Given the description of an element on the screen output the (x, y) to click on. 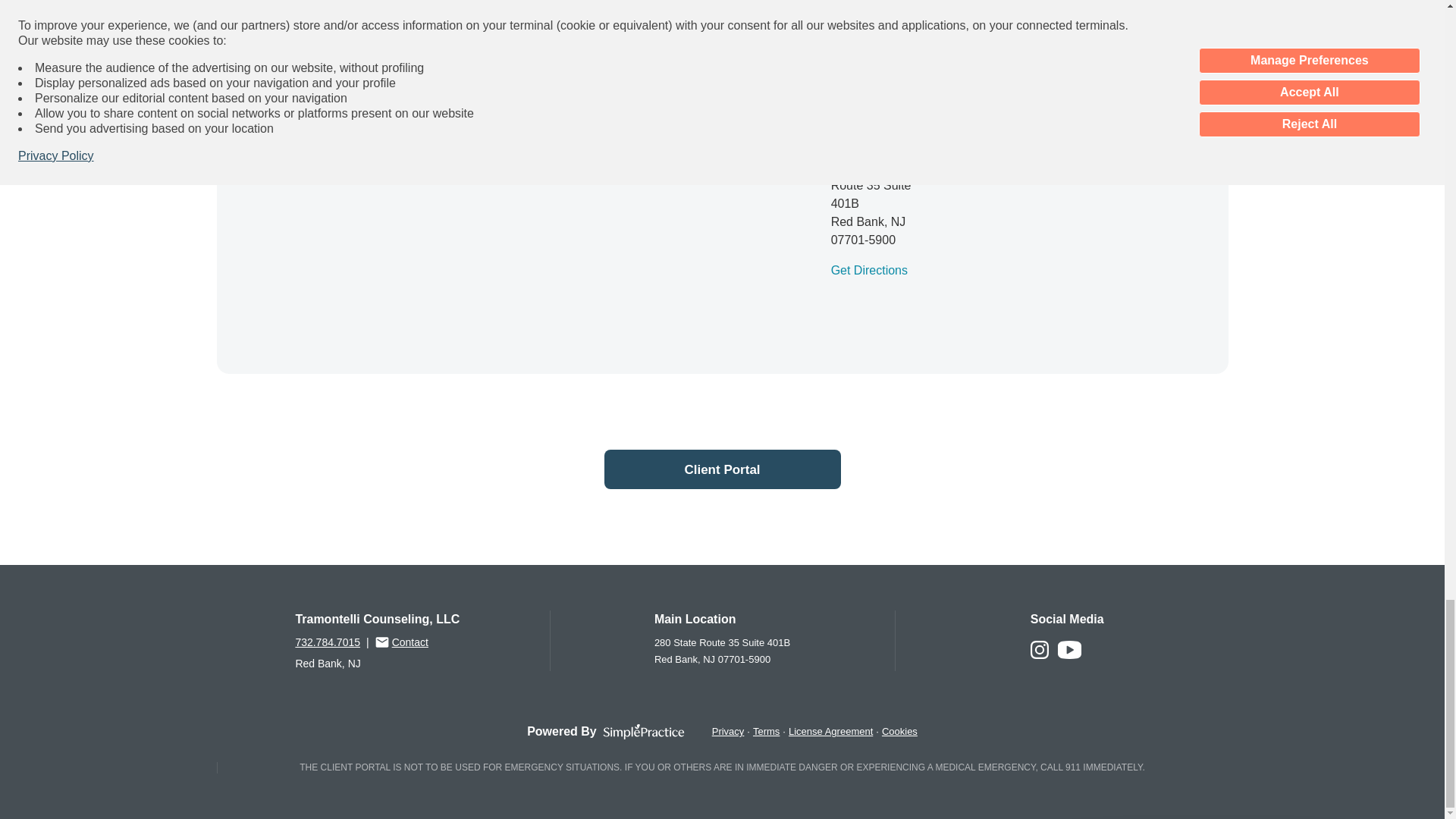
Client Portal (722, 468)
Privacy (727, 731)
Get Directions (869, 269)
Follow Us on YouTube (1069, 655)
732.784.7015 (327, 642)
Follow Us on Instagram (1039, 655)
Terms (765, 731)
Cookies (899, 731)
License Agreement (830, 731)
Contact (401, 642)
